Given the description of an element on the screen output the (x, y) to click on. 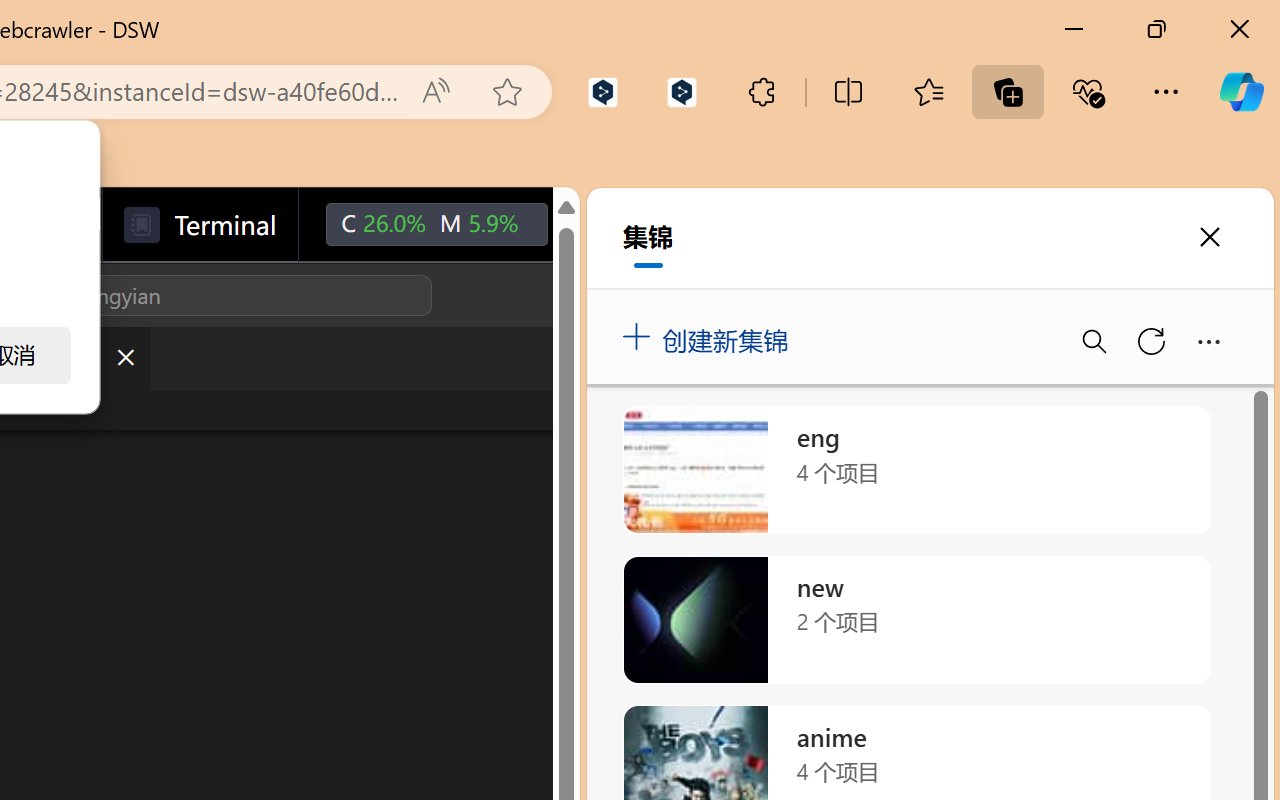
Copilot (Ctrl+Shift+.) (1241, 91)
C26.0% M5.9% (435, 225)
Class: next-menu next-hoz widgets--iconMenu--BFkiHRM (591, 225)
icon (591, 220)
